Given the description of an element on the screen output the (x, y) to click on. 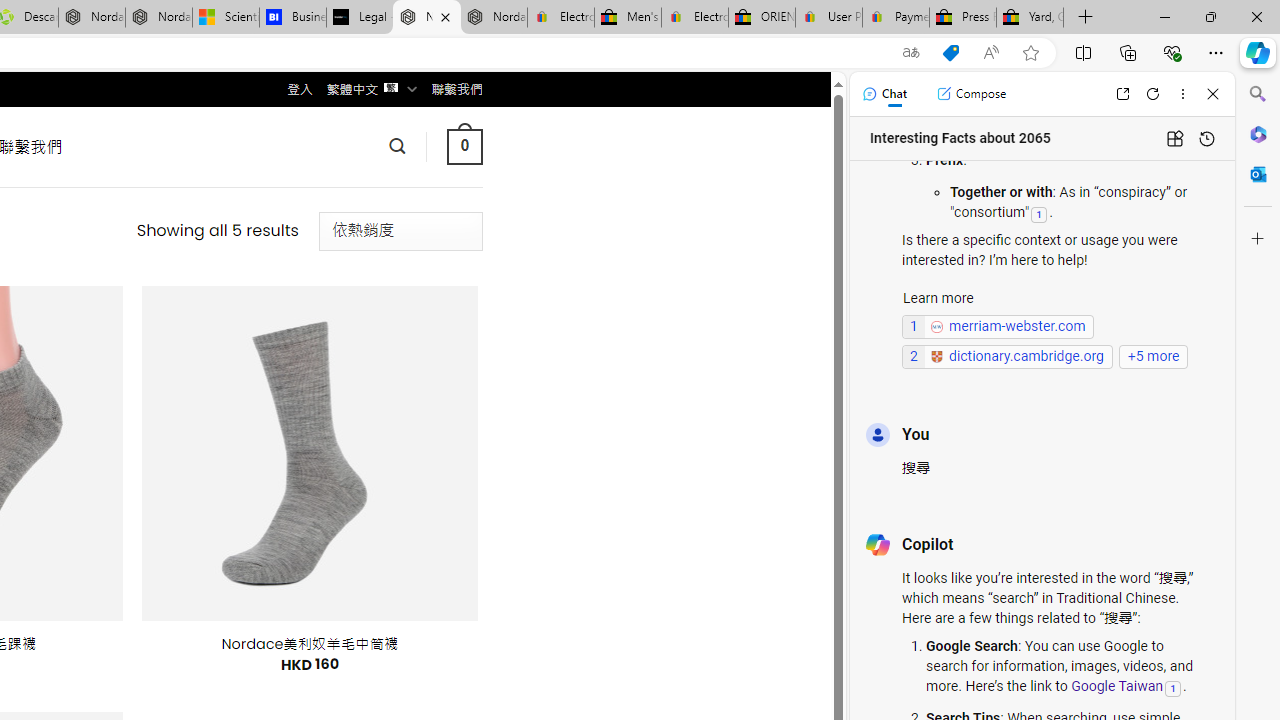
Minimize Search pane (1258, 94)
Nordace - Summer Adventures 2024 (91, 17)
